Given the description of an element on the screen output the (x, y) to click on. 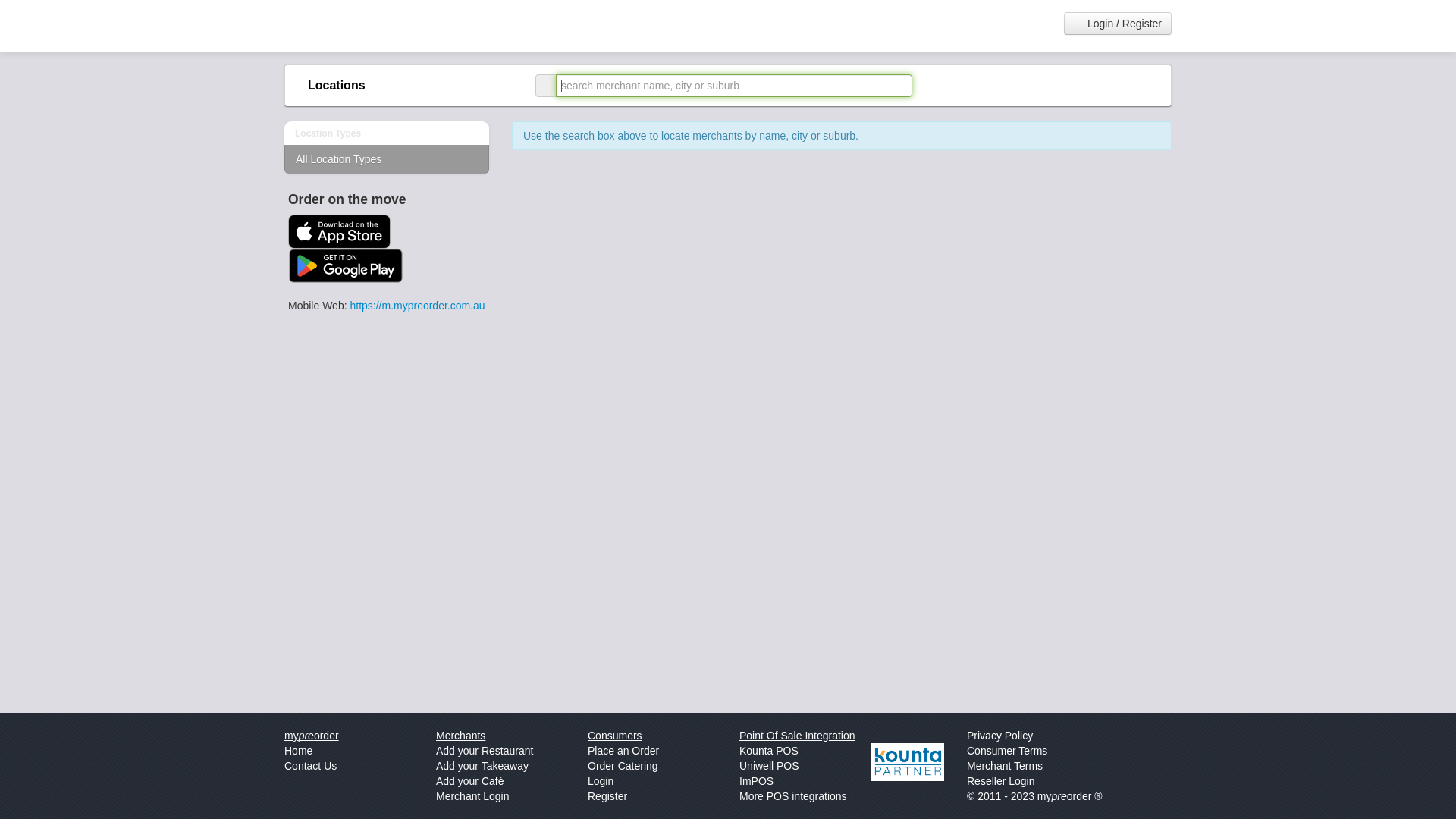
All Location Types Element type: text (386, 158)
Consumers Element type: text (614, 735)
Add your Restaurant Element type: text (484, 750)
https://m.mypreorder.com.au Element type: text (416, 305)
mypreorder Element type: text (311, 735)
ImPOS Element type: text (756, 781)
Privacy Policy Element type: text (999, 735)
Point Of Sale Integration Element type: text (797, 735)
Merchants Element type: text (460, 735)
Merchant Login Element type: text (472, 796)
Login Element type: text (600, 781)
Merchant Terms Element type: text (1004, 765)
Add your Takeaway Element type: text (482, 765)
Contact Us Element type: text (310, 765)
Register Element type: text (607, 796)
More POS integrations Element type: text (793, 796)
Kounta POS Element type: text (768, 750)
Login / Register Element type: text (1117, 23)
Place an Order Element type: text (622, 750)
Order Catering Element type: text (622, 765)
Home Element type: text (298, 750)
Uniwell POS Element type: text (769, 765)
Consumer Terms Element type: text (1006, 750)
Reseller Login Element type: text (1000, 781)
